Given the description of an element on the screen output the (x, y) to click on. 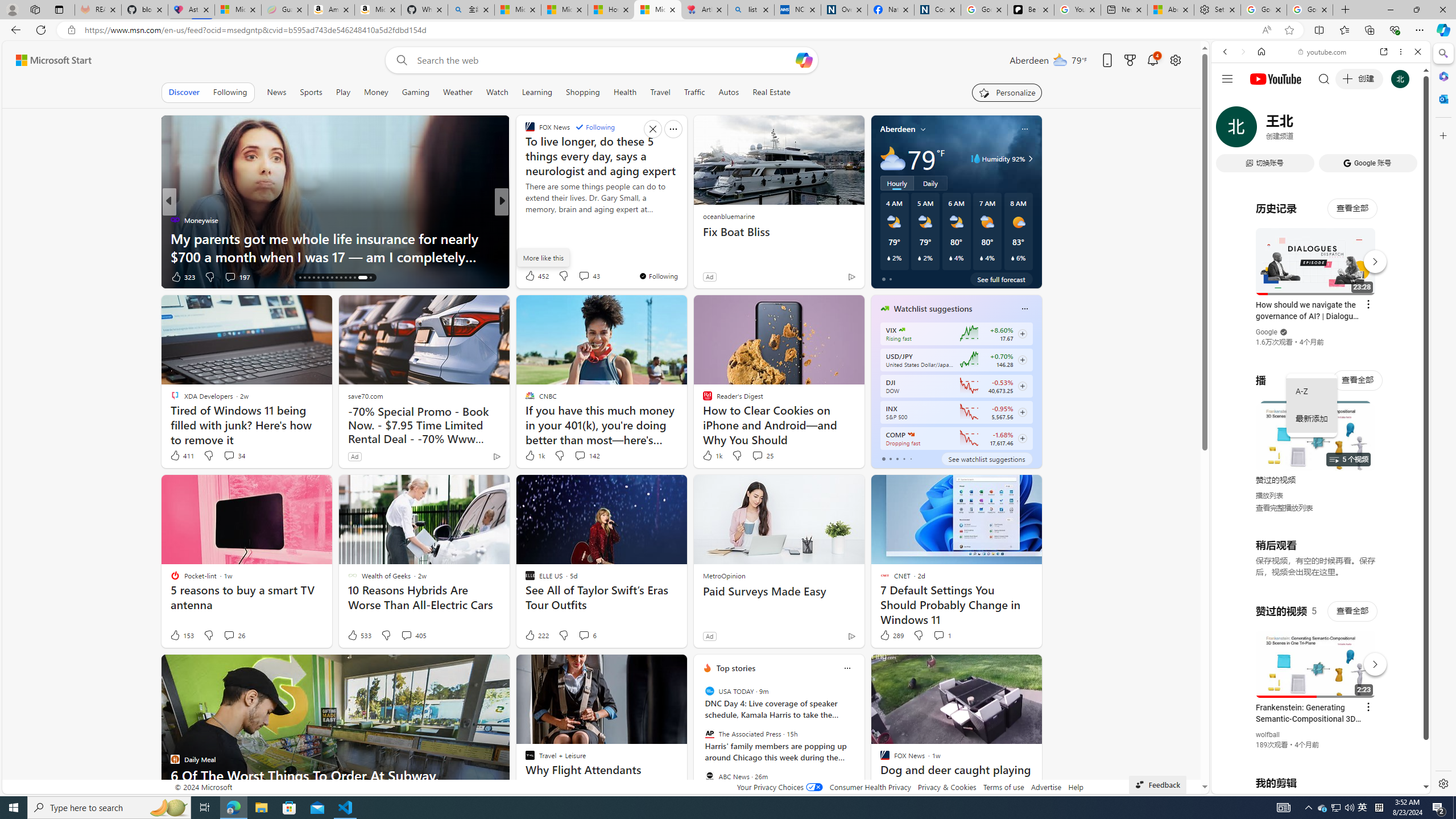
A-Z (1311, 391)
Google (1266, 331)
Moneywise (174, 219)
View comments 25 Comment (761, 455)
View comments 197 Comment (229, 276)
Play (342, 92)
Privacy & Cookies (946, 786)
Click to scroll right (1407, 456)
